Given the description of an element on the screen output the (x, y) to click on. 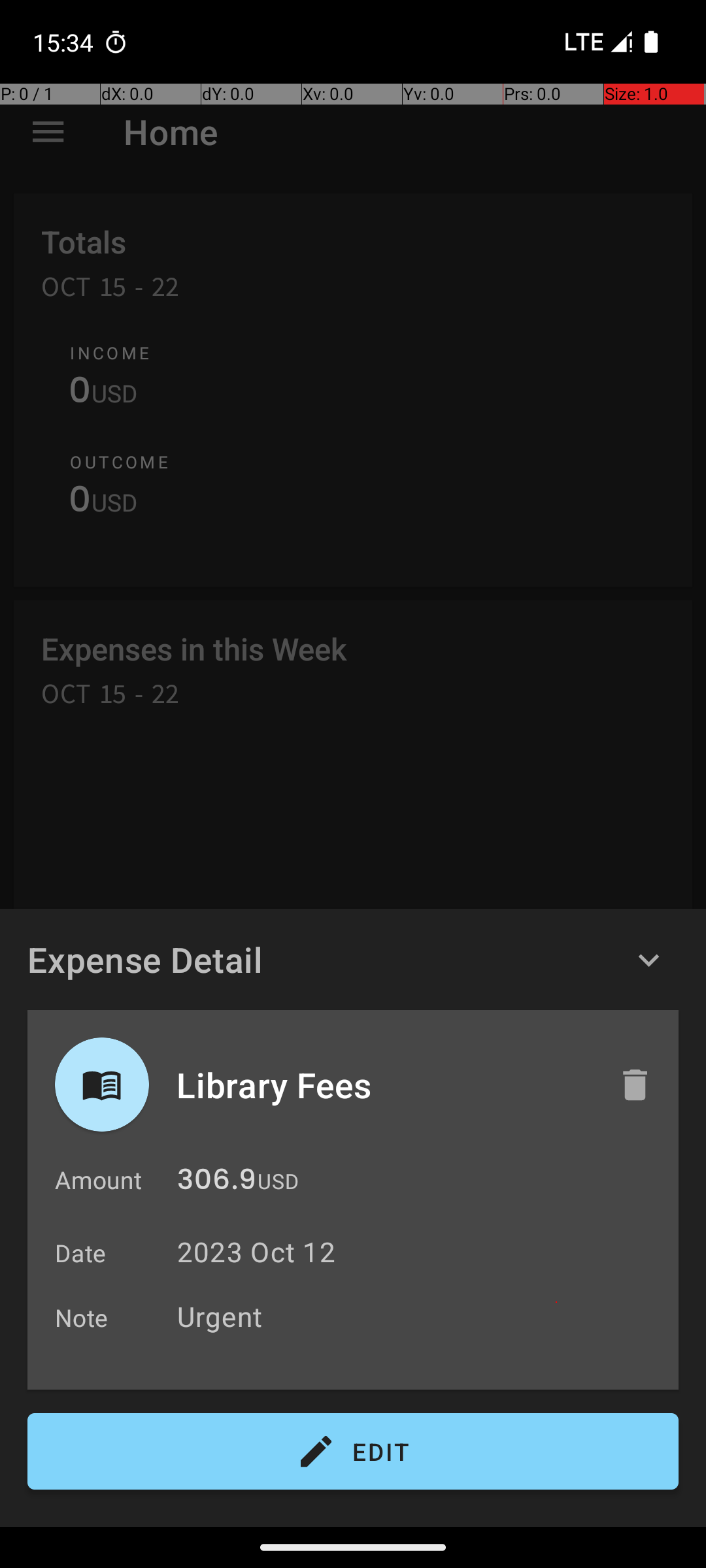
Library Fees Element type: android.widget.TextView (383, 1084)
306.9 Element type: android.widget.TextView (216, 1182)
Urgent Element type: android.widget.TextView (420, 1315)
